Given the description of an element on the screen output the (x, y) to click on. 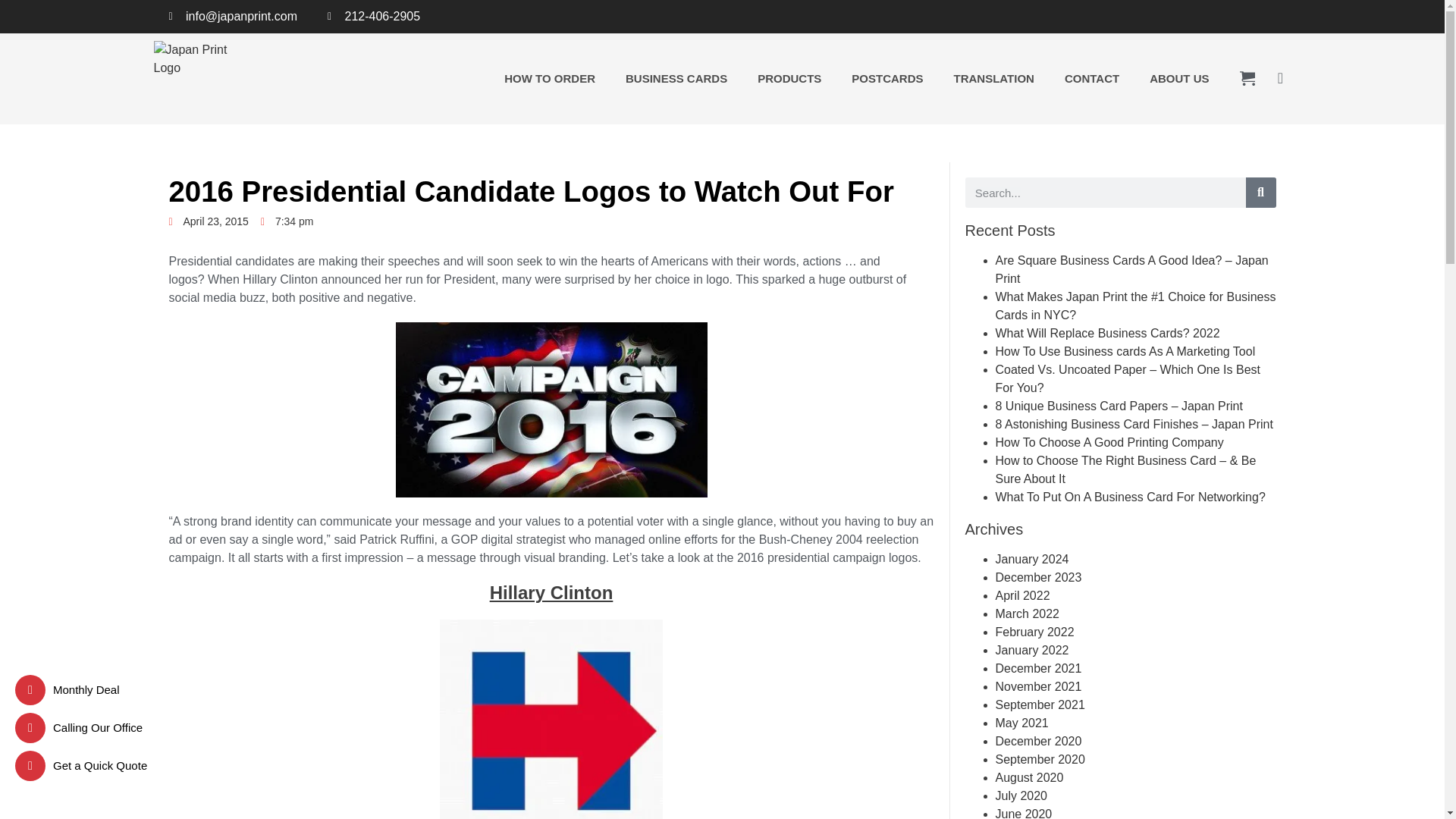
212-406-2905 (373, 16)
HOW TO ORDER (549, 78)
Monthly Deal (68, 689)
Get a Quick Quote (82, 766)
Calling Our Office (80, 727)
BUSINESS CARDS (676, 78)
